Given the description of an element on the screen output the (x, y) to click on. 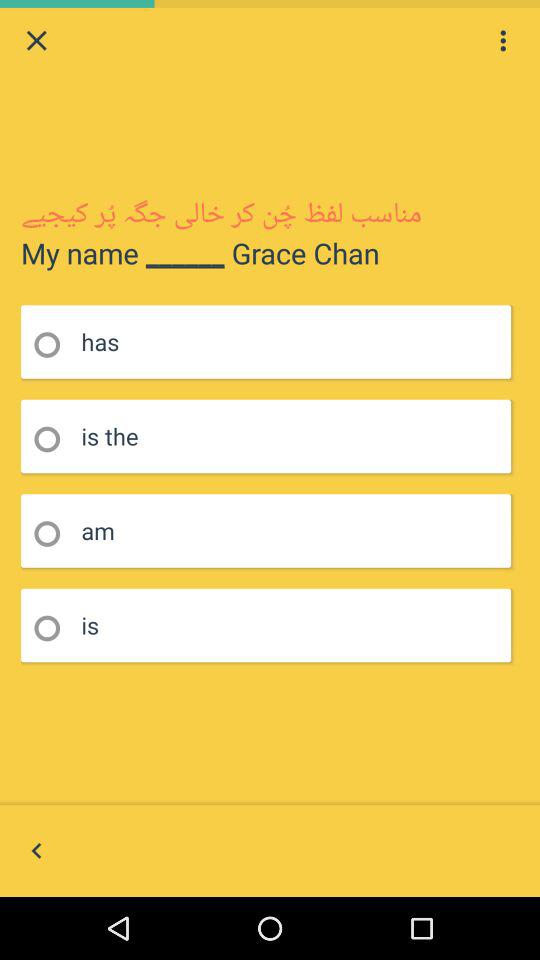
selection button (53, 439)
